Given the description of an element on the screen output the (x, y) to click on. 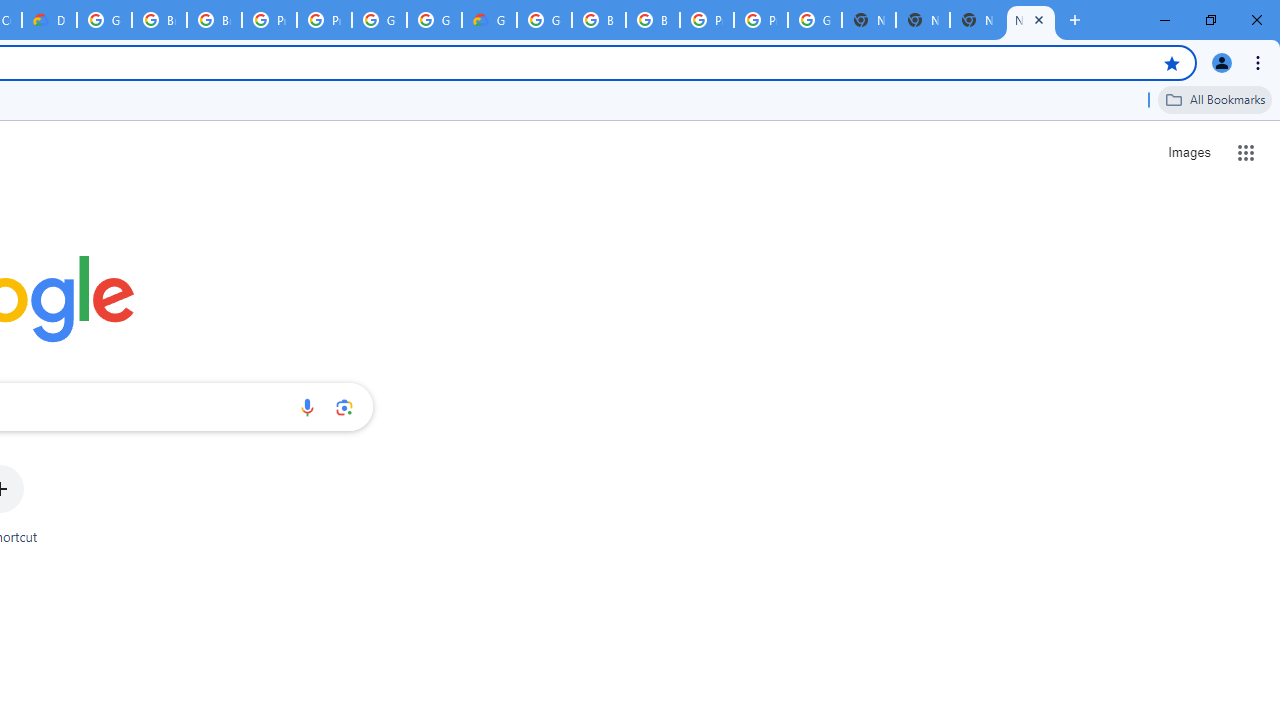
Browse Chrome as a guest - Computer - Google Chrome Help (158, 20)
Google Cloud Estimate Summary (489, 20)
Google Cloud Platform (434, 20)
